Given the description of an element on the screen output the (x, y) to click on. 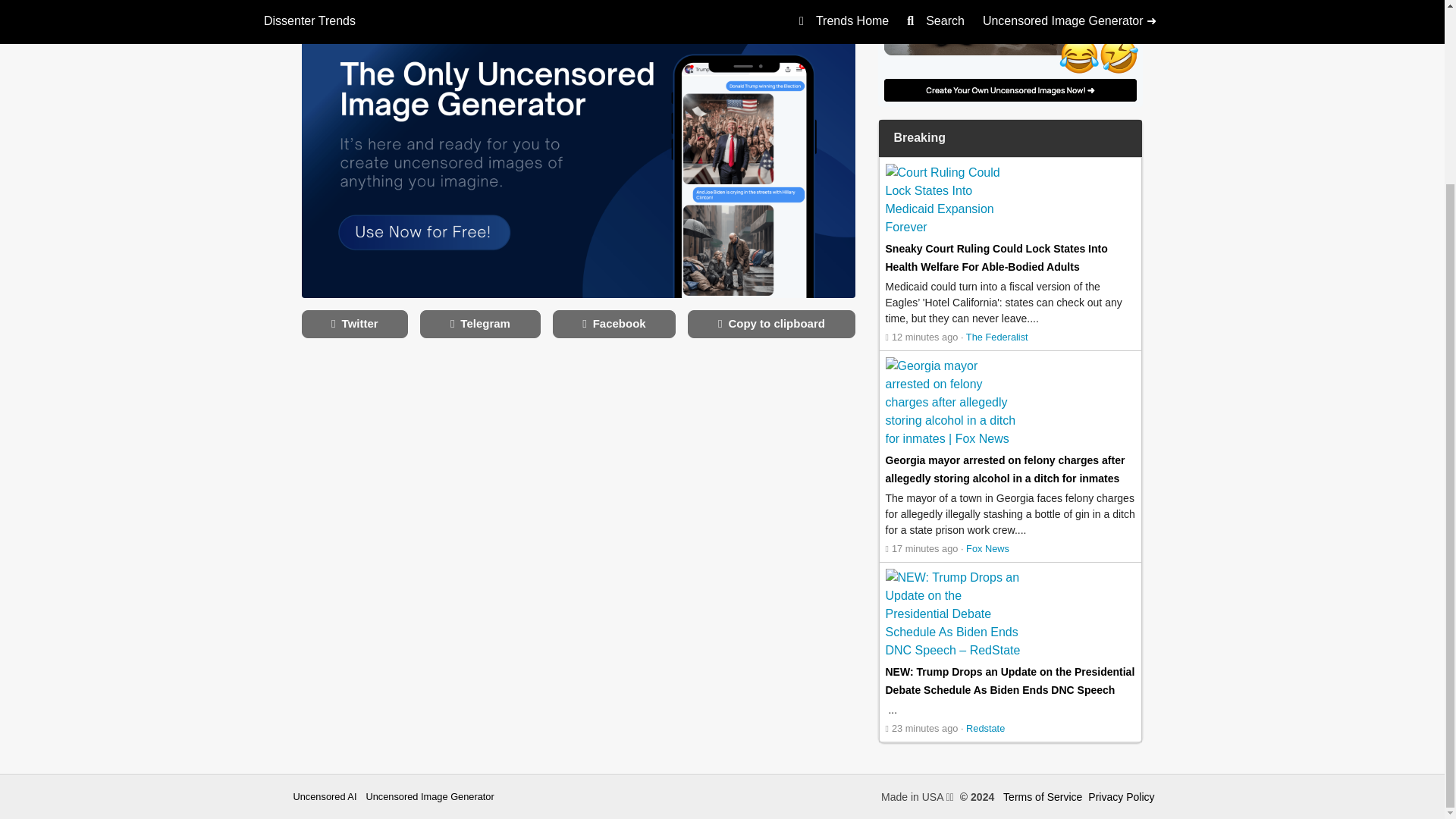
Telegram (480, 324)
Fox News (987, 548)
12 minutes ago (921, 337)
Redstate (985, 727)
Privacy Policy (1120, 797)
Open (921, 727)
Share to Twitter (355, 324)
The Federalist (996, 337)
23 minutes ago (921, 727)
